Given the description of an element on the screen output the (x, y) to click on. 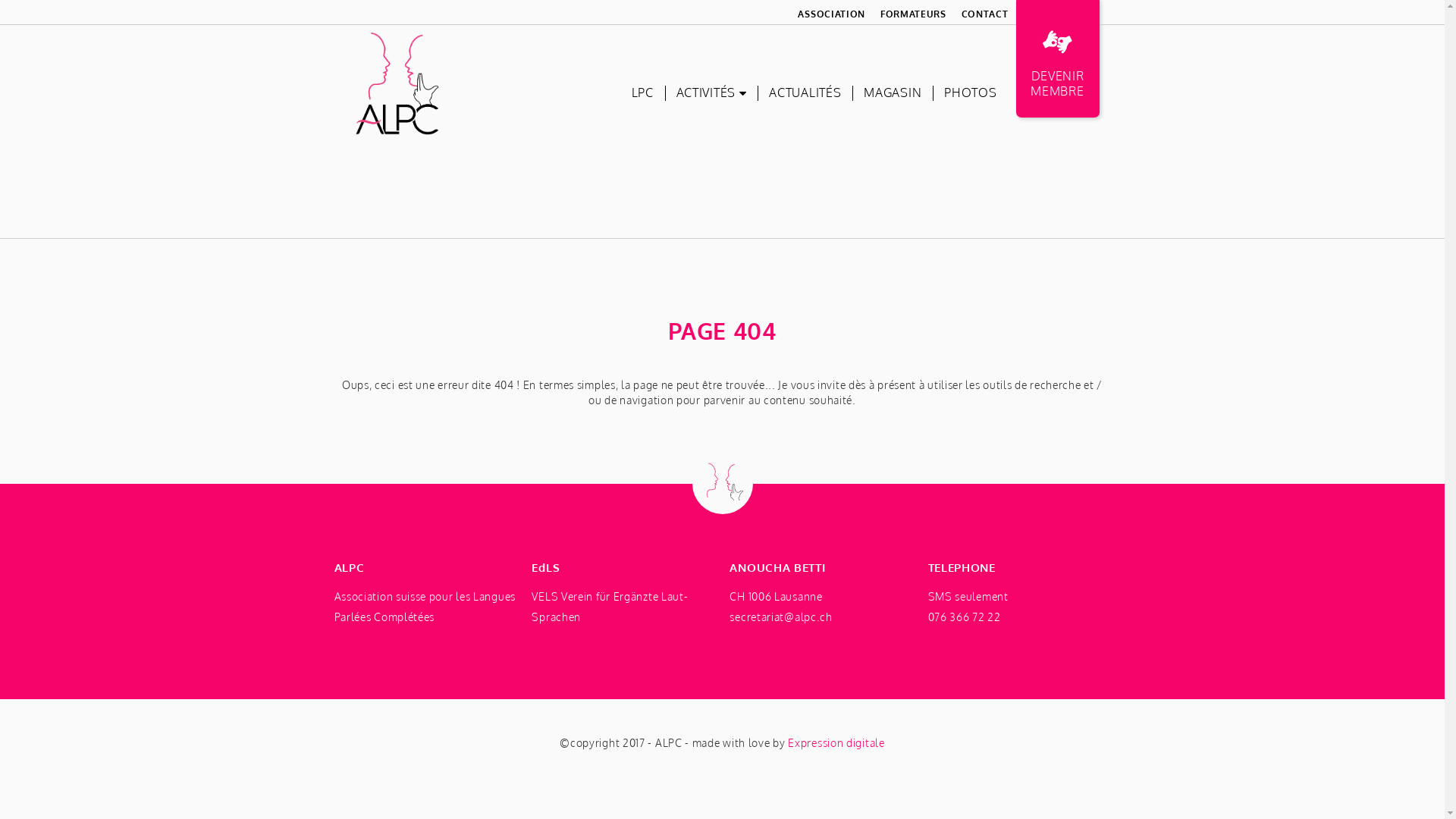
alpc Element type: hover (395, 82)
MAGASIN Element type: text (892, 92)
PHOTOS Element type: text (969, 92)
DEVENIR MEMBRE Element type: text (1057, 60)
Expression digitale Element type: text (835, 742)
logo de l'association ALPC Element type: hover (395, 83)
ASSOCIATION Element type: text (831, 13)
FORMATEURS Element type: text (913, 13)
secretariat@alpc.ch Element type: text (780, 616)
CONTACT Element type: text (984, 13)
LPC Element type: text (642, 92)
